Given the description of an element on the screen output the (x, y) to click on. 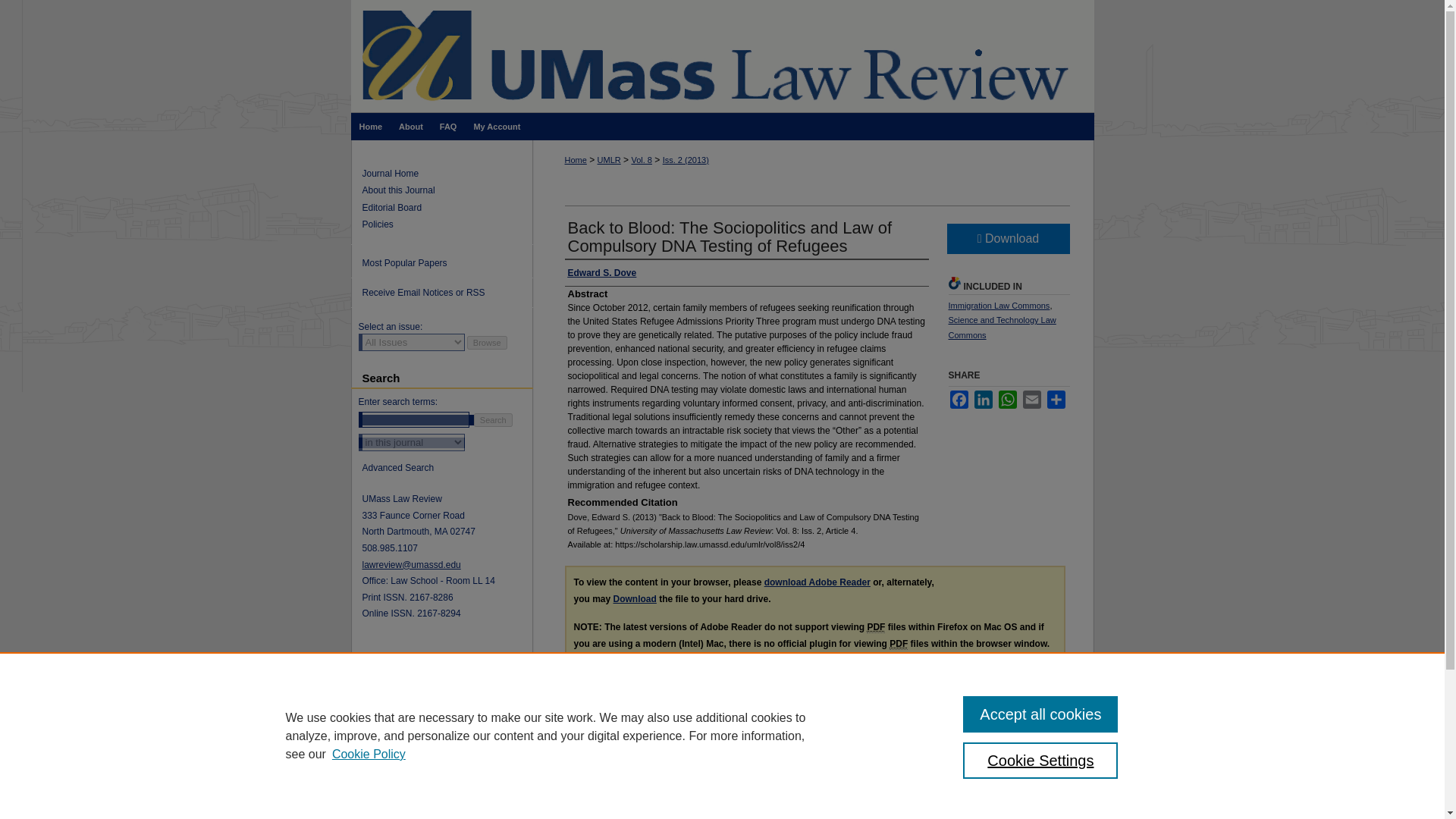
Search (493, 419)
Science and Technology Law Commons (1001, 327)
Email (1031, 399)
About this Journal (447, 190)
Browse (486, 342)
Science and Technology Law Commons (1001, 327)
About (410, 126)
FAQ (447, 126)
Receive Email Notices or RSS (441, 292)
Home (370, 126)
Share (1055, 399)
Edward S. Dove (601, 273)
Search (493, 419)
My Account (496, 126)
Editorial Board (447, 207)
